Given the description of an element on the screen output the (x, y) to click on. 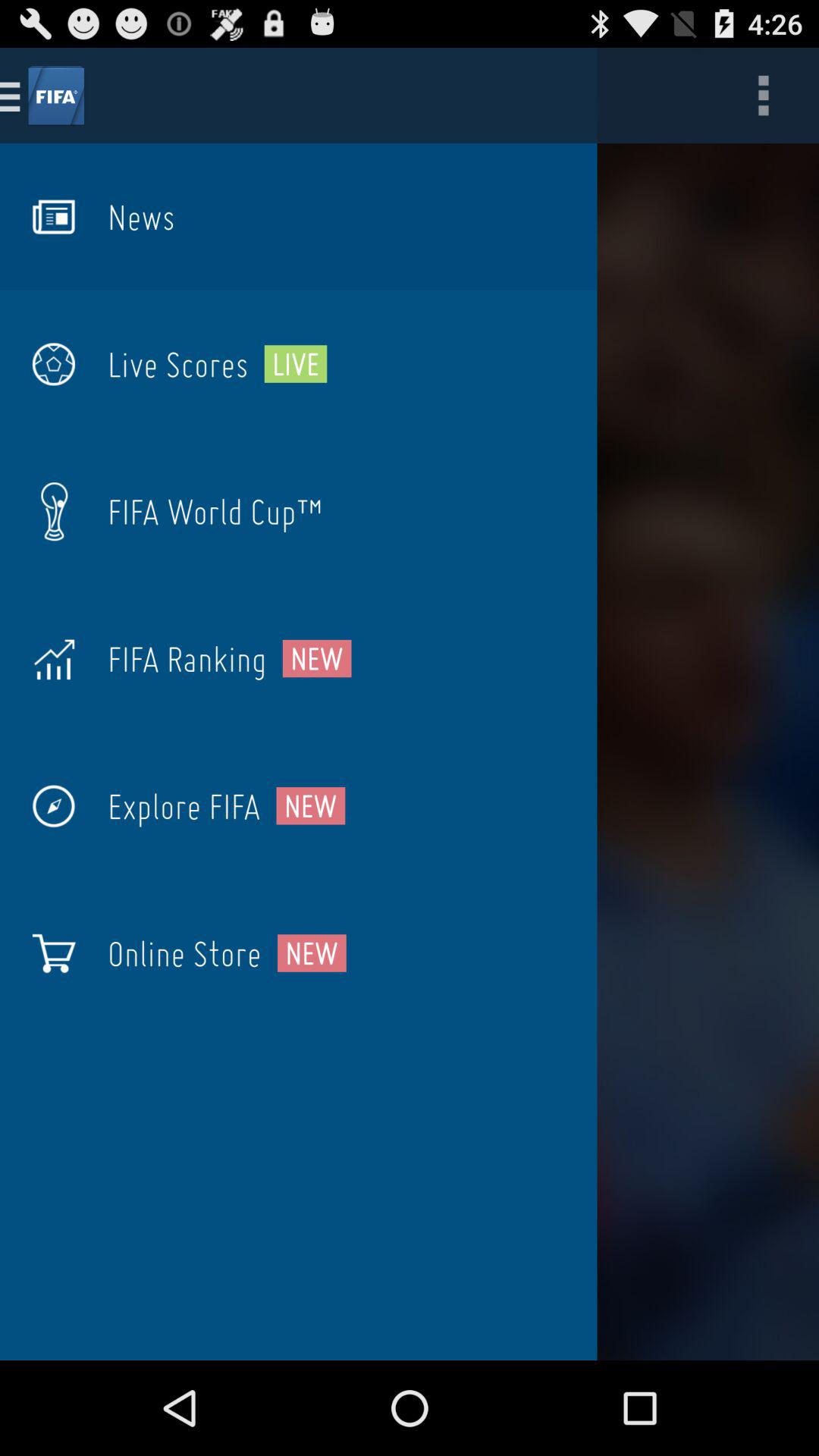
launch icon next to the live icon (177, 363)
